Given the description of an element on the screen output the (x, y) to click on. 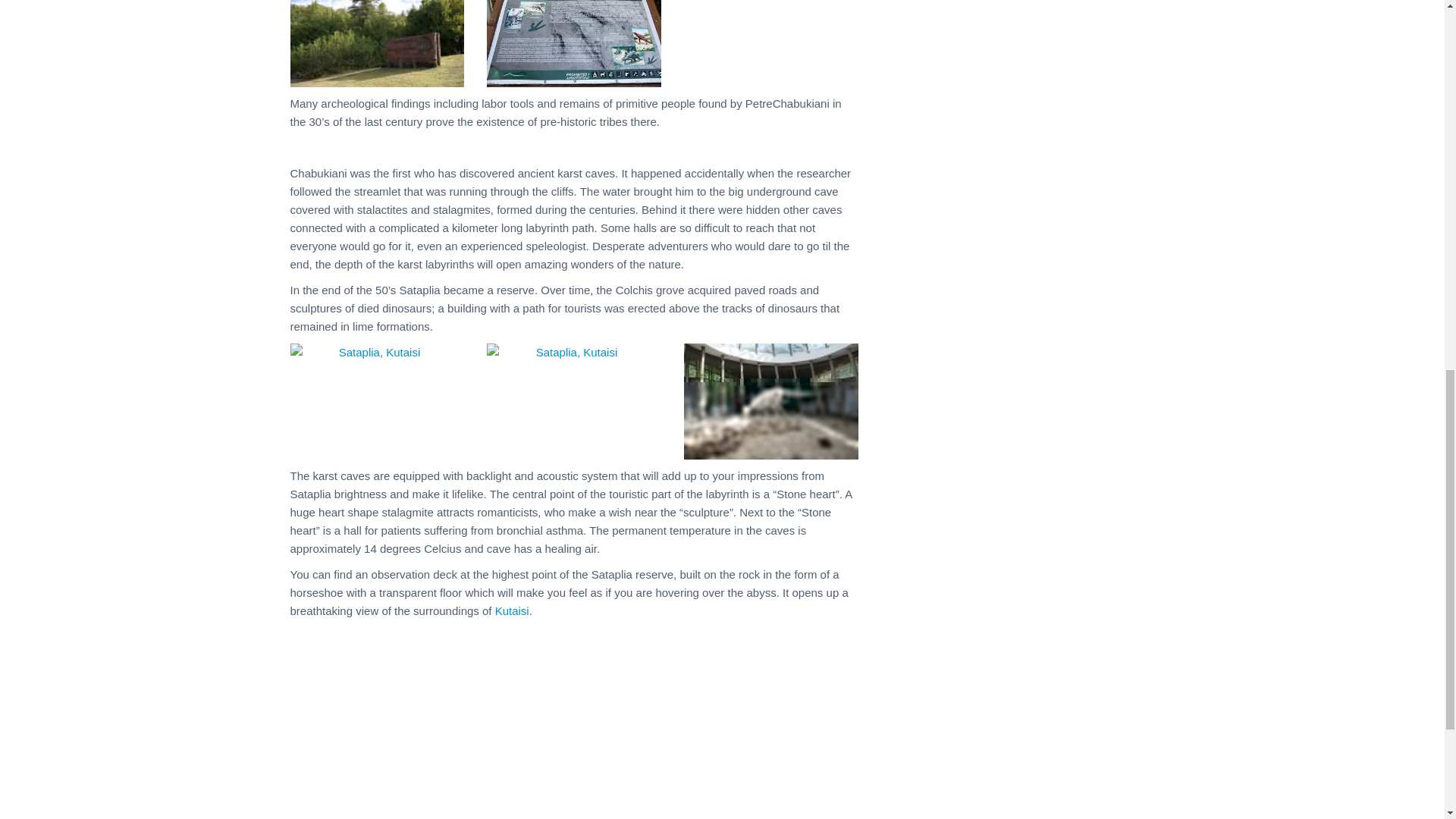
Silk Road (314, 706)
Kutaisi (512, 610)
Sataplia Nature Reserve (573, 43)
Sataplia Nature Reserve (376, 43)
